Given the description of an element on the screen output the (x, y) to click on. 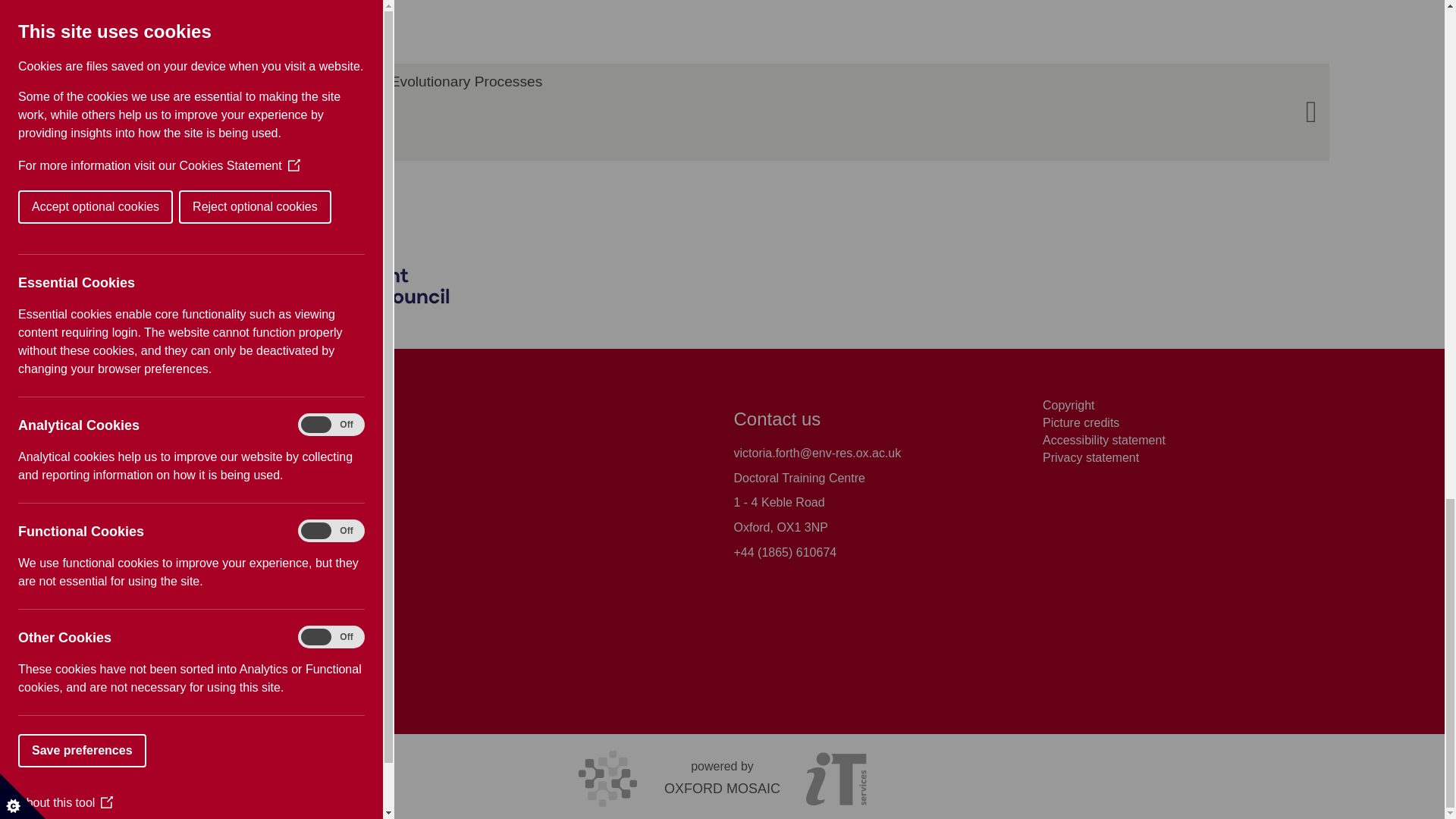
Biology (134, 452)
Mathematical Institute (173, 576)
Biodiversity, Ecology and Evolutionary Processes (721, 111)
Chemistry (142, 477)
Biodiversity, Ecology and Evolutionary Processes (163, 111)
Earth Sciences (155, 502)
Engineering Science (171, 526)
